Given the description of an element on the screen output the (x, y) to click on. 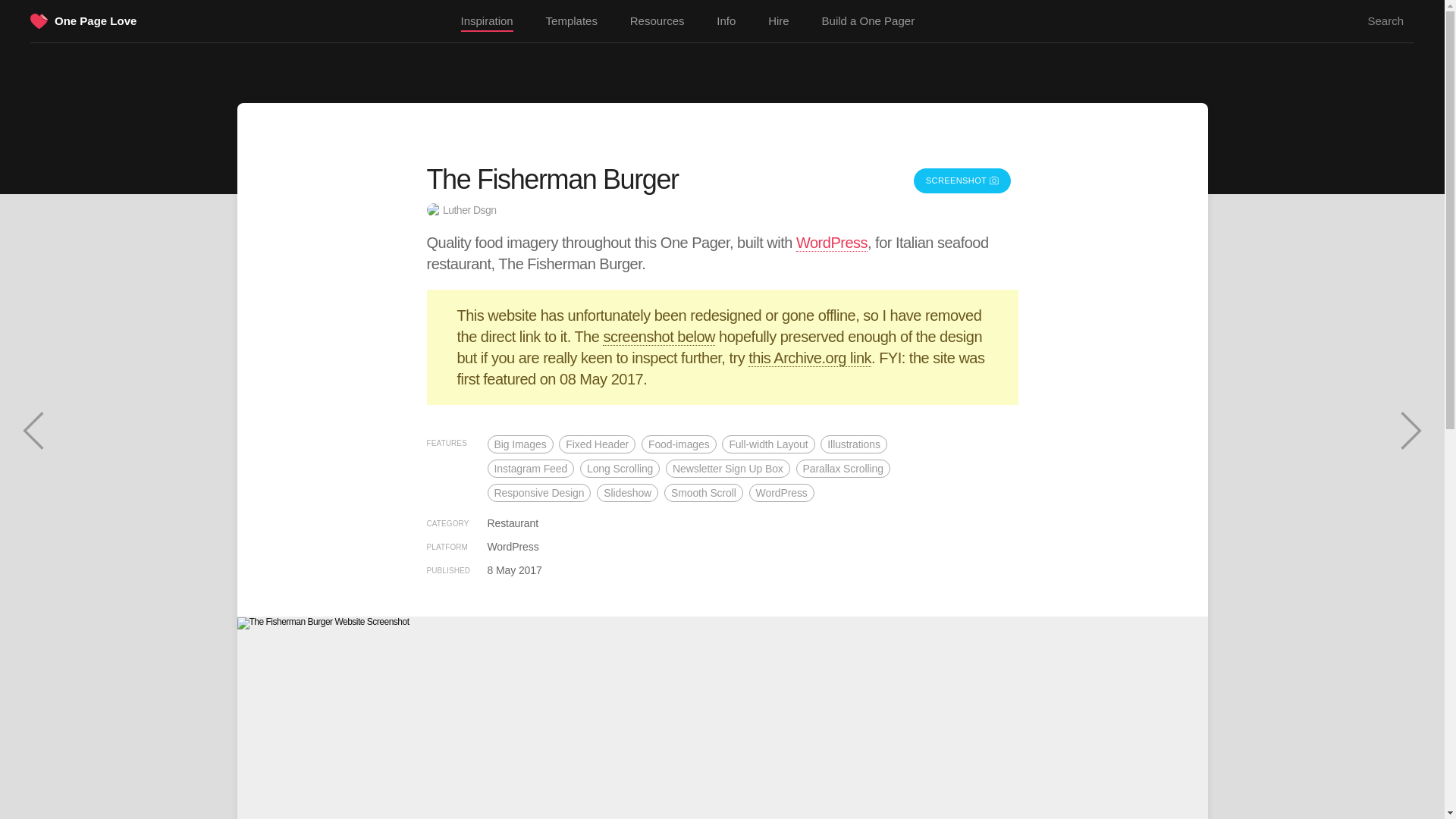
Go to the One Page Love home page (39, 22)
Go to the One Page Love home page (95, 20)
Find One Page website templates (571, 21)
One Page Love (95, 20)
One Page website inspiration gallery (486, 22)
Inspiration (486, 22)
